Given the description of an element on the screen output the (x, y) to click on. 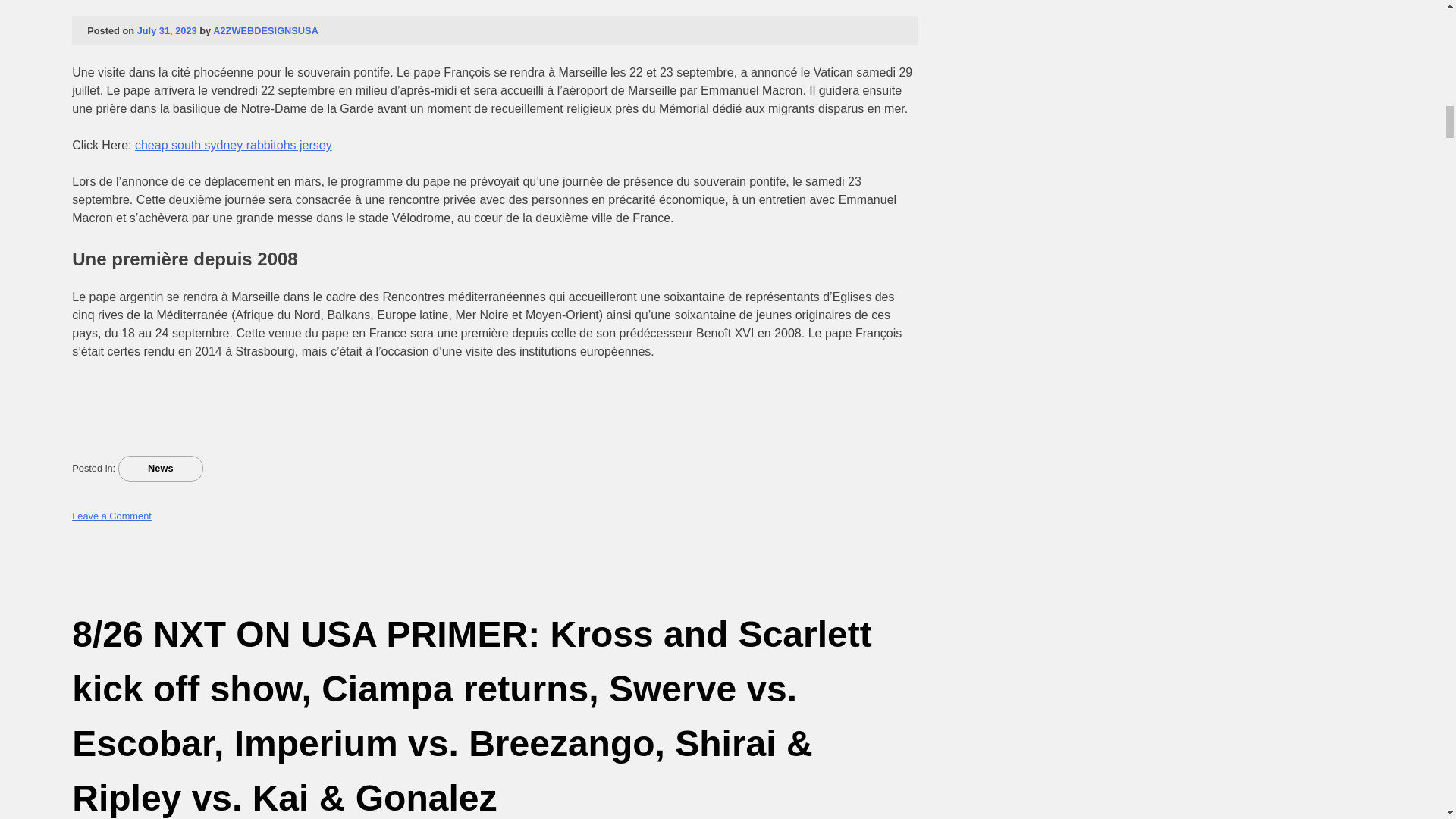
A2ZWEBDESIGNSUSA (265, 30)
July 31, 2023 (166, 30)
cheap south sydney rabbitohs jersey (233, 144)
cheap south sydney rabbitohs jersey (233, 144)
News (160, 468)
